Given the description of an element on the screen output the (x, y) to click on. 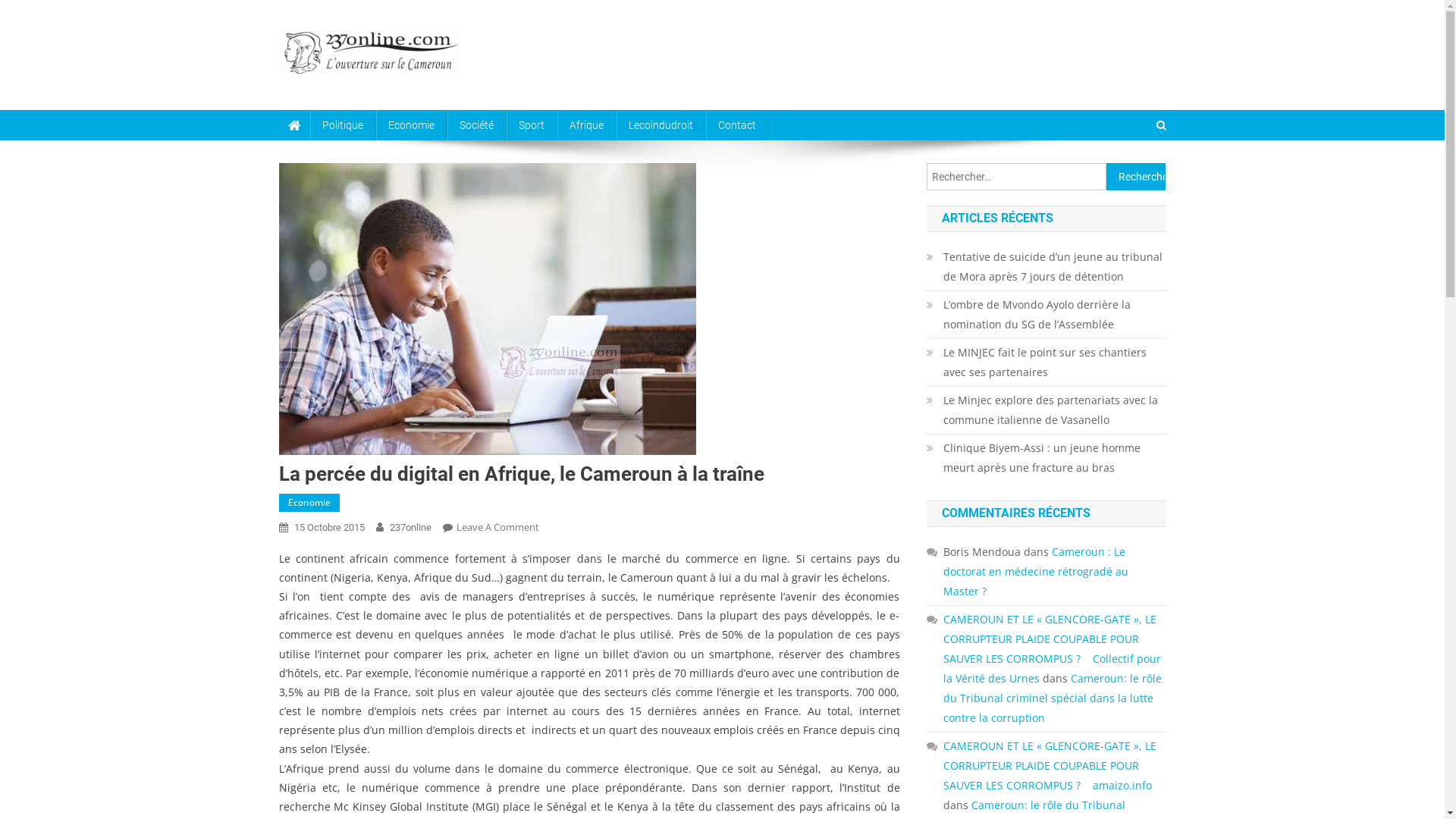
237online.com Element type: text (370, 92)
Politique Element type: text (341, 124)
Contact Element type: text (736, 124)
Rechercher Element type: text (1133, 175)
Economie Element type: text (309, 502)
Sport Element type: text (531, 124)
Lecoindudroit Element type: text (659, 124)
15 Octobre 2015 Element type: text (329, 527)
Rechercher Element type: text (1136, 176)
237online Element type: text (410, 527)
Economie Element type: text (411, 124)
Afrique Element type: text (585, 124)
